Given the description of an element on the screen output the (x, y) to click on. 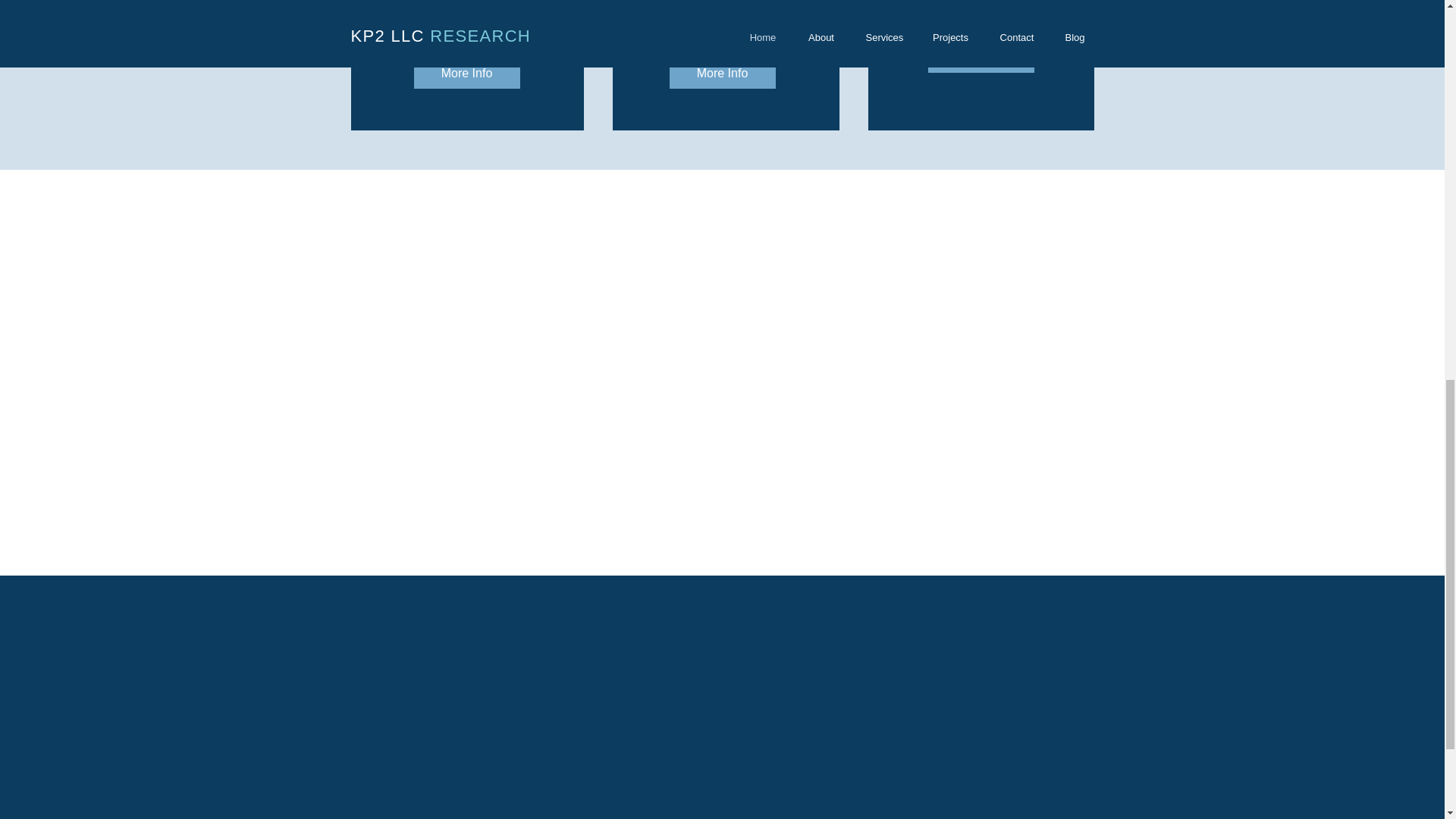
More Info (466, 73)
More Info (980, 57)
More Info (721, 73)
